Given the description of an element on the screen output the (x, y) to click on. 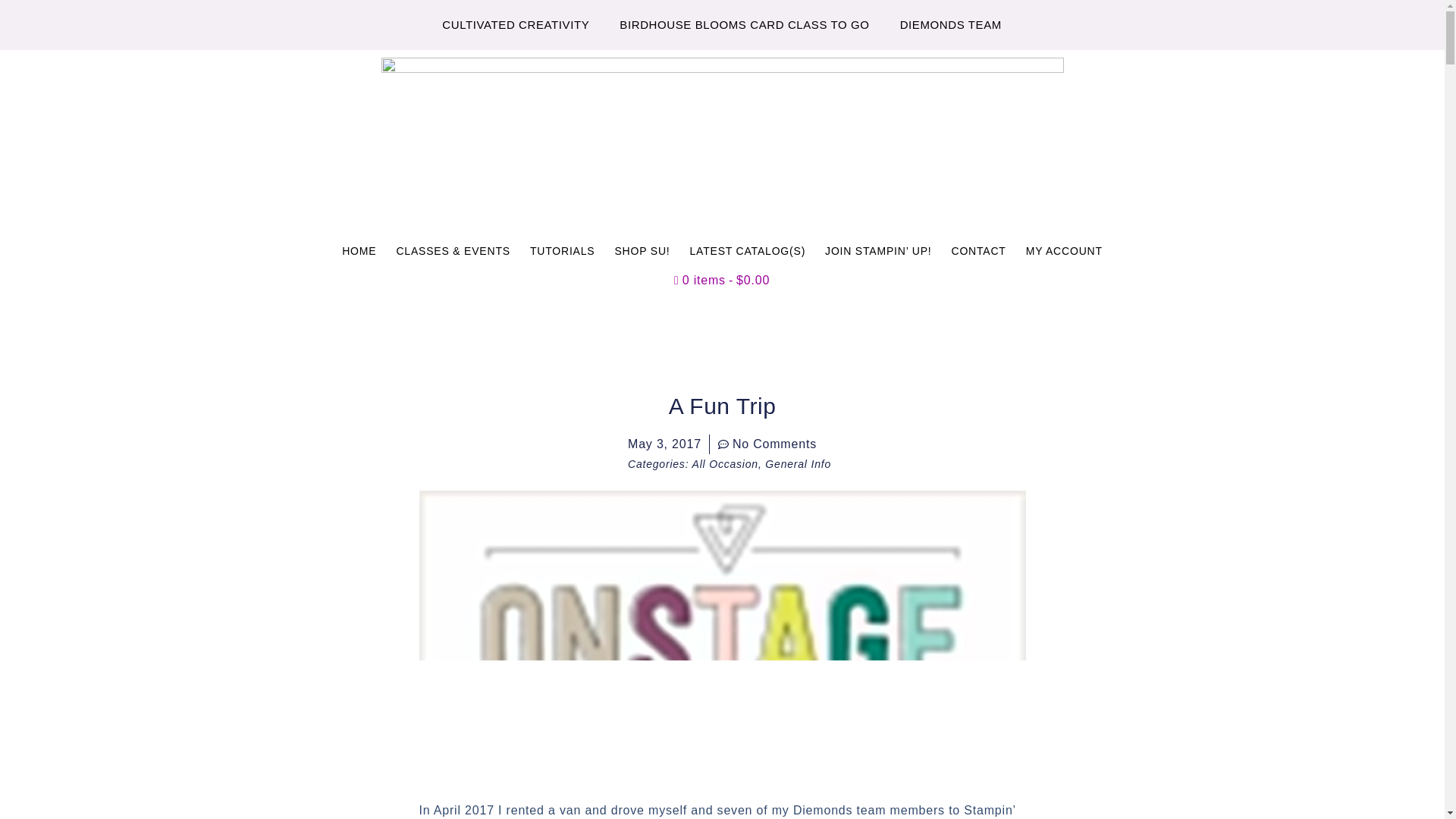
All Occasion (725, 463)
MY ACCOUNT (1064, 250)
CONTACT (977, 250)
No Comments (766, 444)
May 3, 2017 (664, 444)
General Info (798, 463)
BIRDHOUSE BLOOMS CARD CLASS TO GO (743, 24)
CULTIVATED CREATIVITY (515, 24)
Start shopping (721, 280)
SHOP SU! (641, 250)
